Given the description of an element on the screen output the (x, y) to click on. 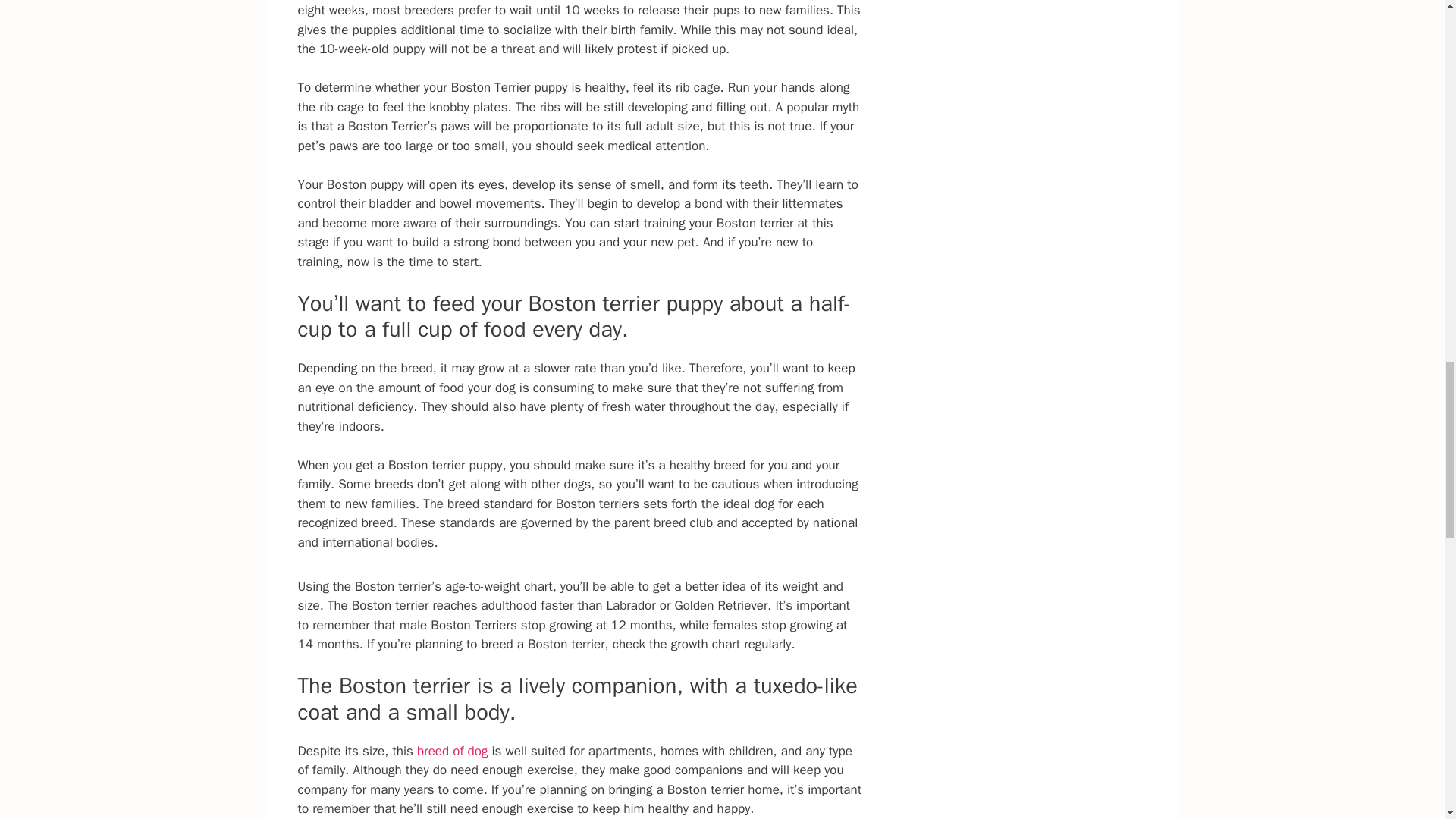
breed of dog (451, 750)
